Given the description of an element on the screen output the (x, y) to click on. 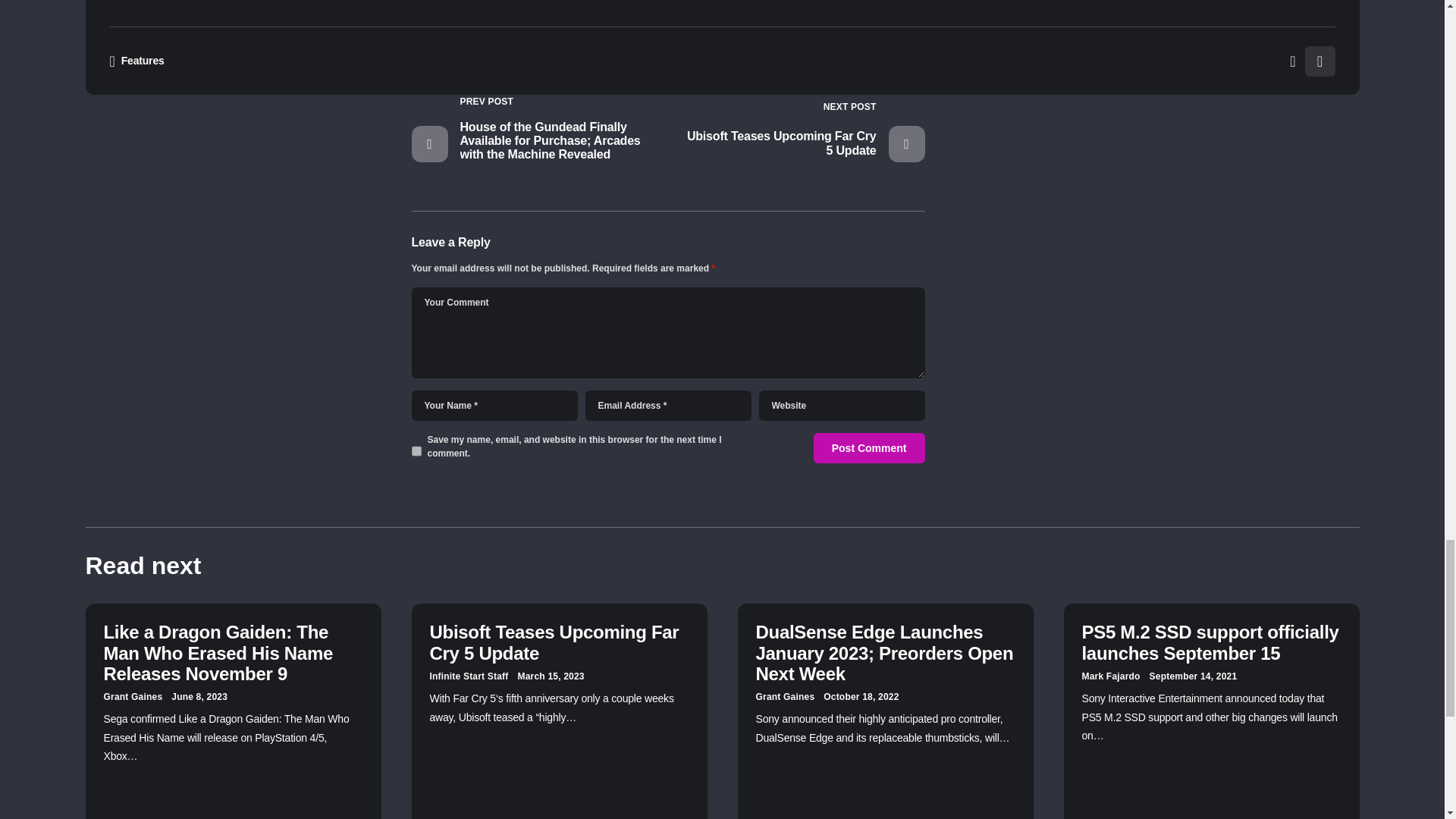
View all posts by Grant Gaines (132, 696)
View all posts by Mark Fajardo (1110, 676)
Post Comment (868, 448)
View all posts by Infinite Start Staff (468, 676)
View all posts by Grant Gaines (784, 696)
